Given the description of an element on the screen output the (x, y) to click on. 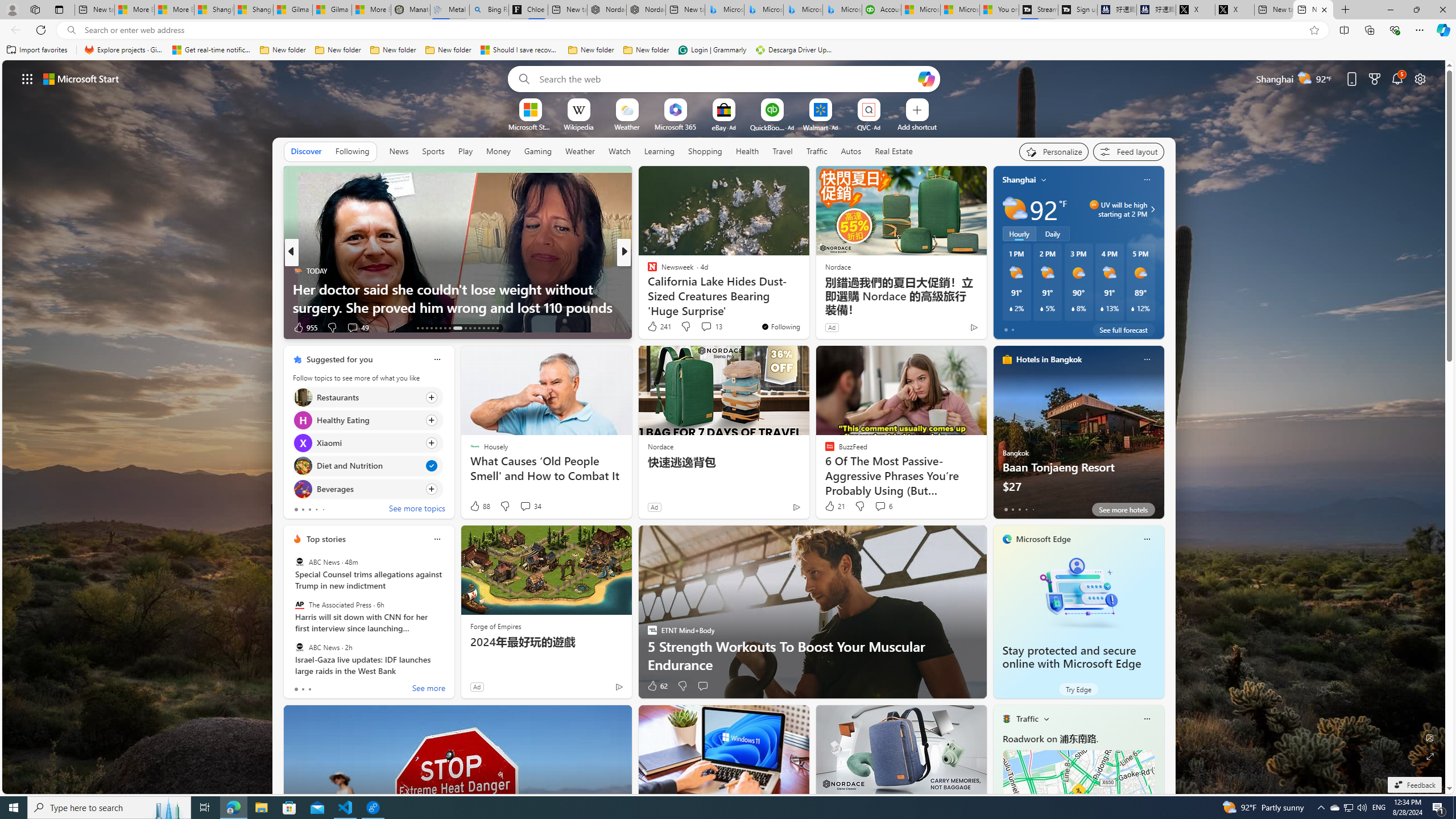
Dislike (682, 685)
Click to follow topic Xiaomi (367, 442)
Forge of Empires (495, 625)
AutomationID: tab-21 (457, 328)
Microsoft Bing Travel - Stays in Bangkok, Bangkok, Thailand (763, 9)
AutomationID: tab-20 (449, 328)
Notifications (1397, 78)
Microsoft start (81, 78)
Beverages (302, 488)
